Given the description of an element on the screen output the (x, y) to click on. 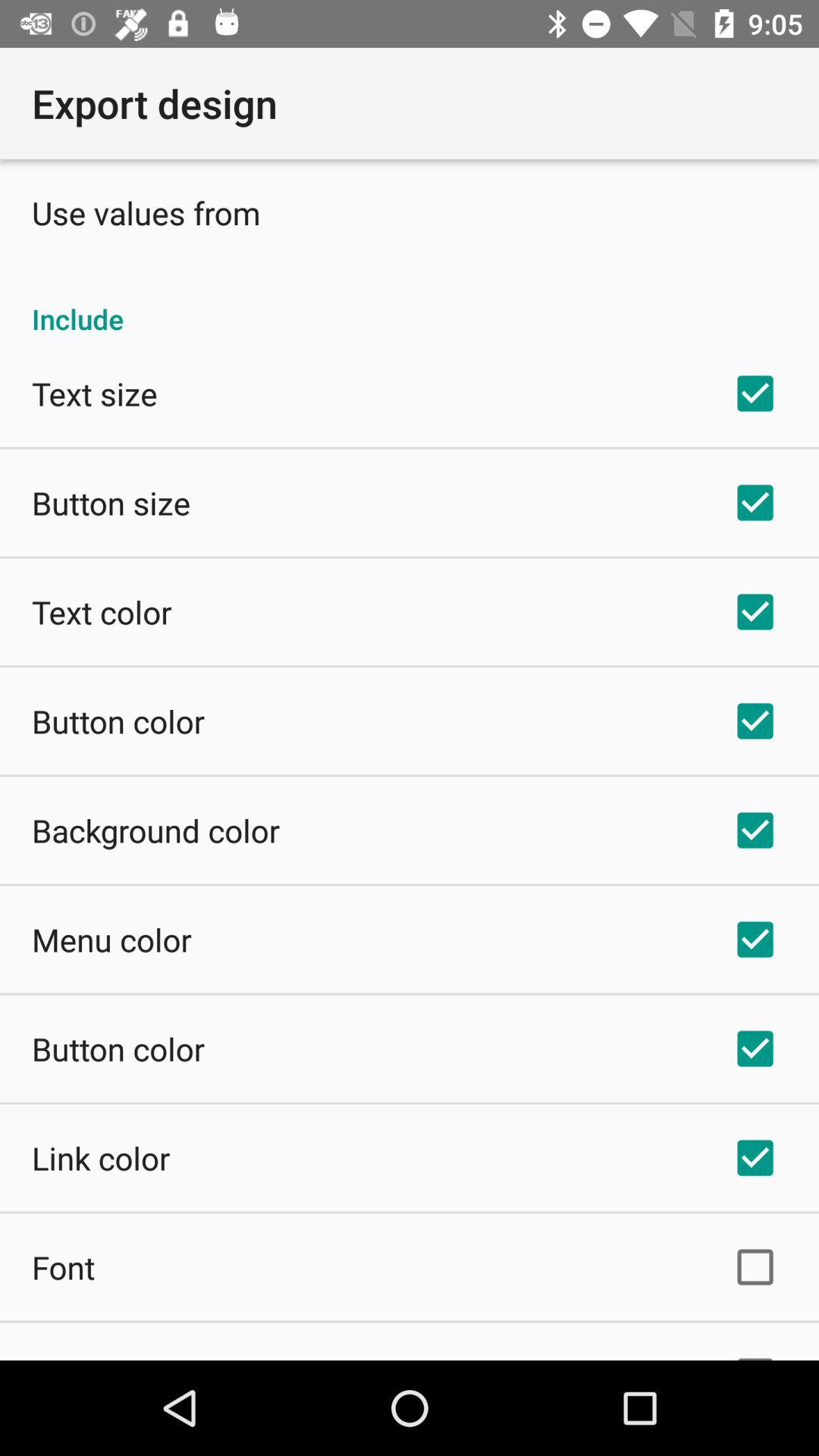
launch icon below font (88, 1357)
